Given the description of an element on the screen output the (x, y) to click on. 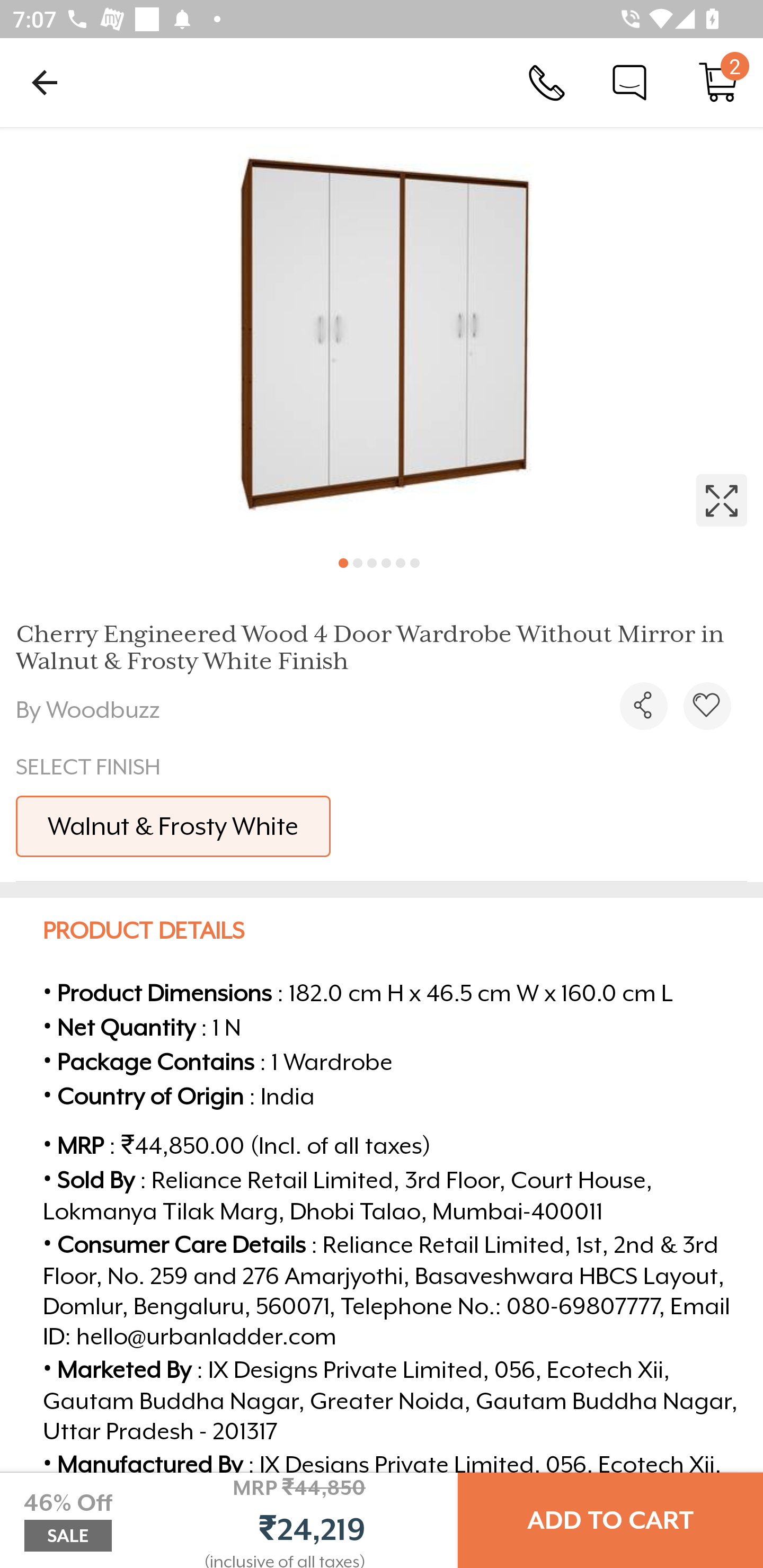
Navigate up (44, 82)
Call Us (546, 81)
Chat (629, 81)
Cart (718, 81)
 (381, 334)
 (643, 706)
 (706, 706)
Walnut & Frosty White (173, 825)
ADD TO CART (610, 1520)
